Given the description of an element on the screen output the (x, y) to click on. 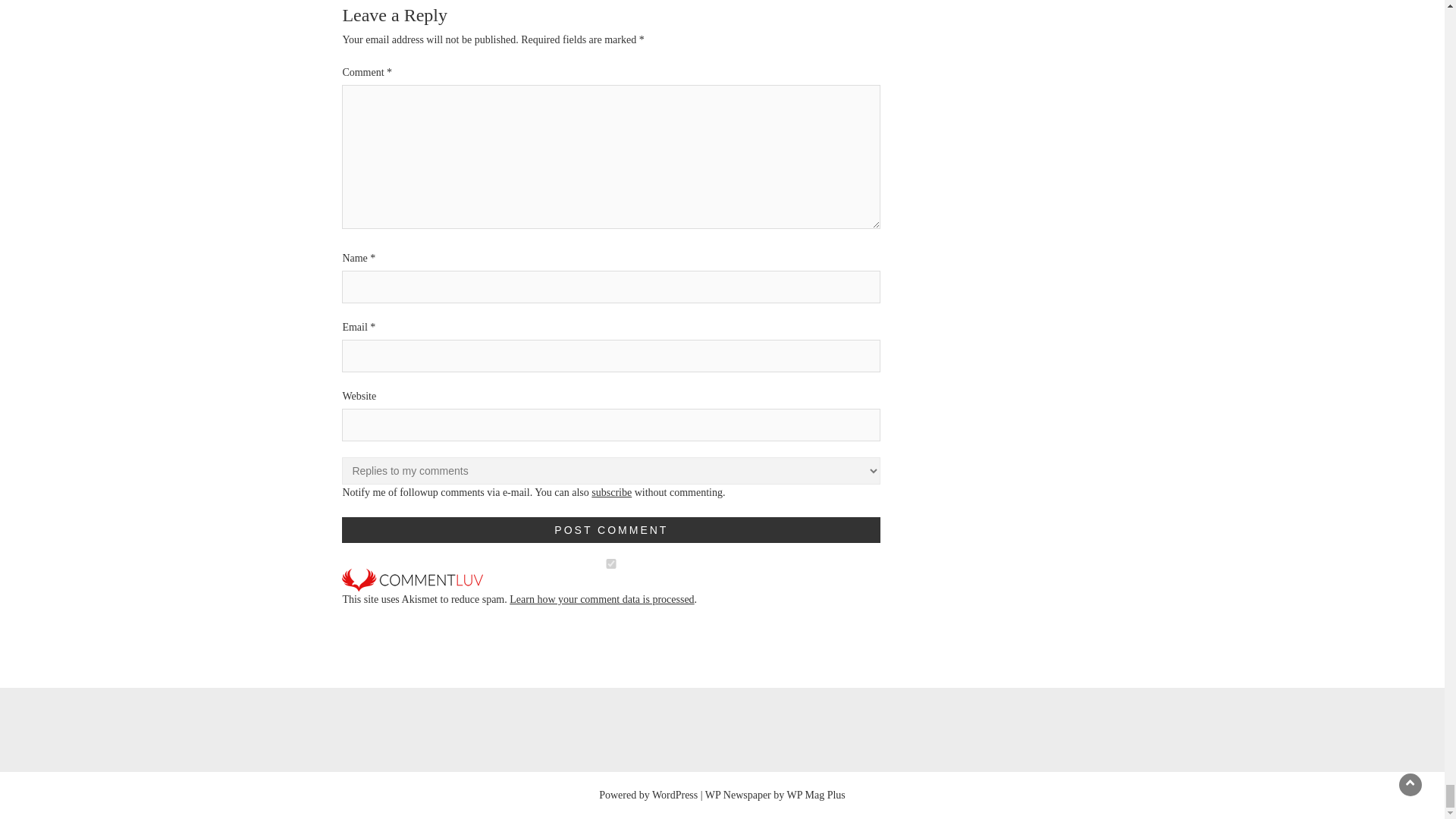
Post Comment (611, 529)
CommentLuv is enabled (412, 578)
on (611, 563)
